Given the description of an element on the screen output the (x, y) to click on. 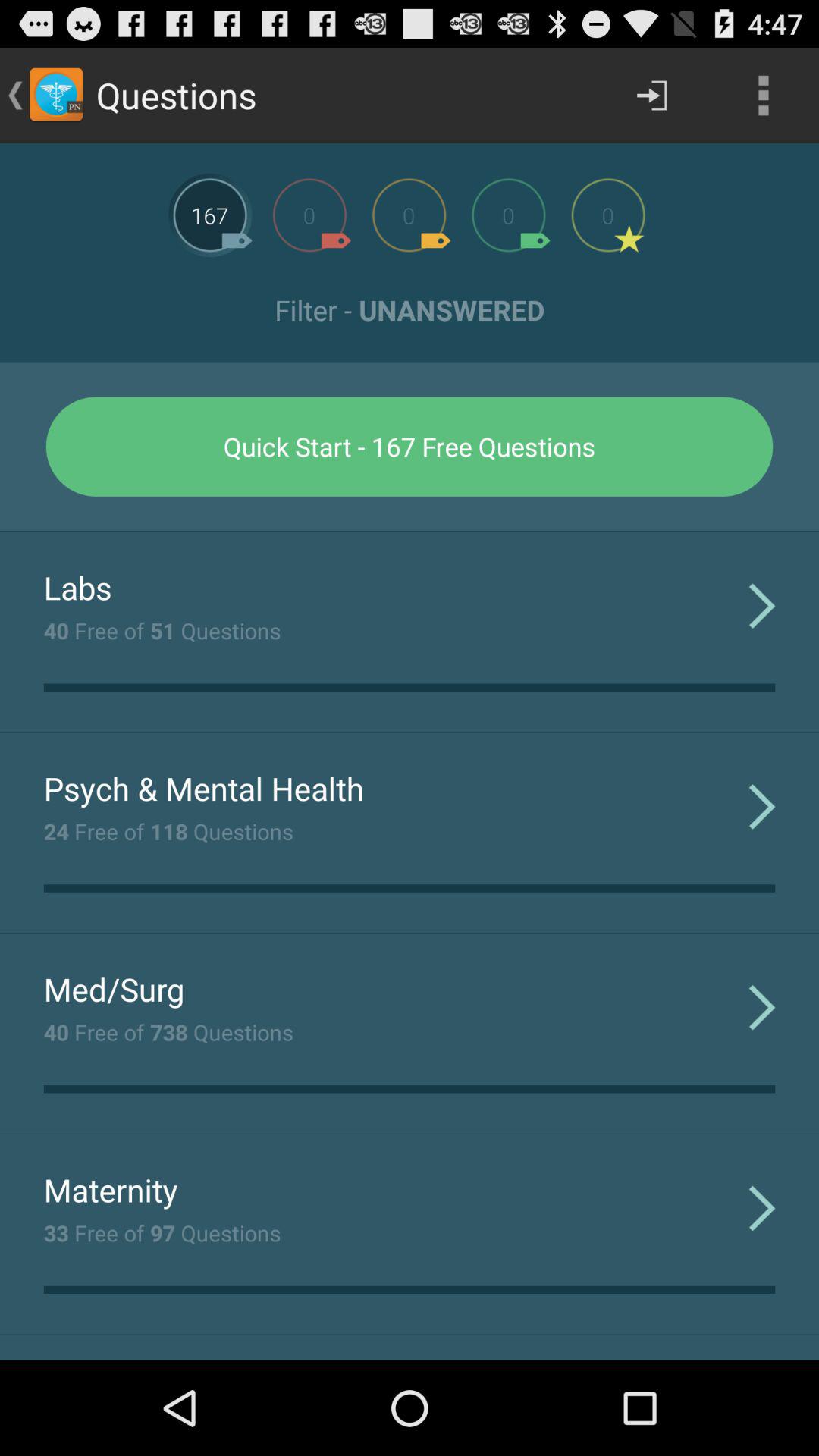
launch the icon to the right of questions (651, 95)
